Given the description of an element on the screen output the (x, y) to click on. 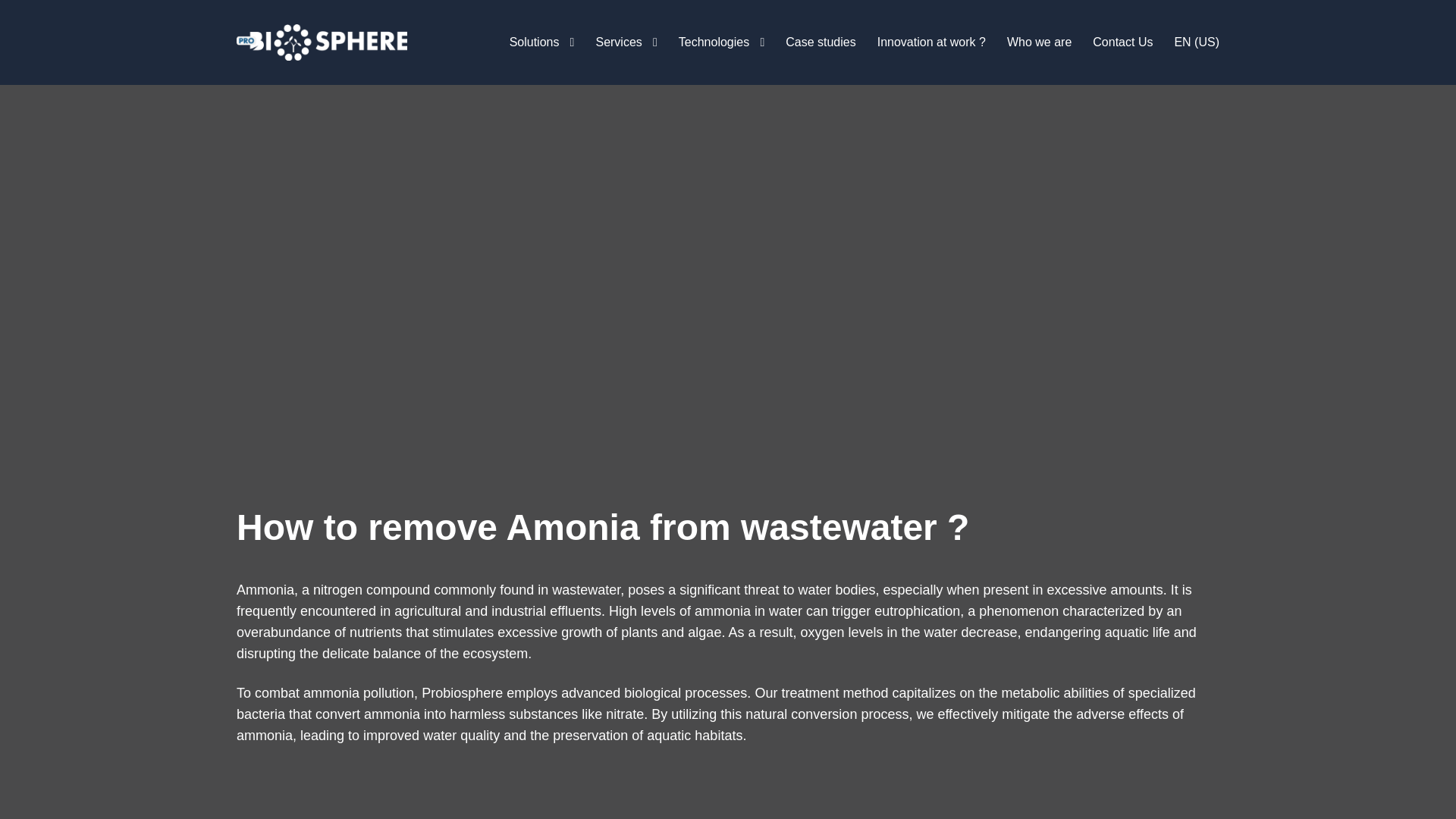
Innovation at work ? (931, 42)
Technologies (713, 42)
Case studies (821, 42)
Services (618, 42)
Who we are (1039, 42)
Solutions (534, 42)
Contact Us (1123, 42)
